Given the description of an element on the screen output the (x, y) to click on. 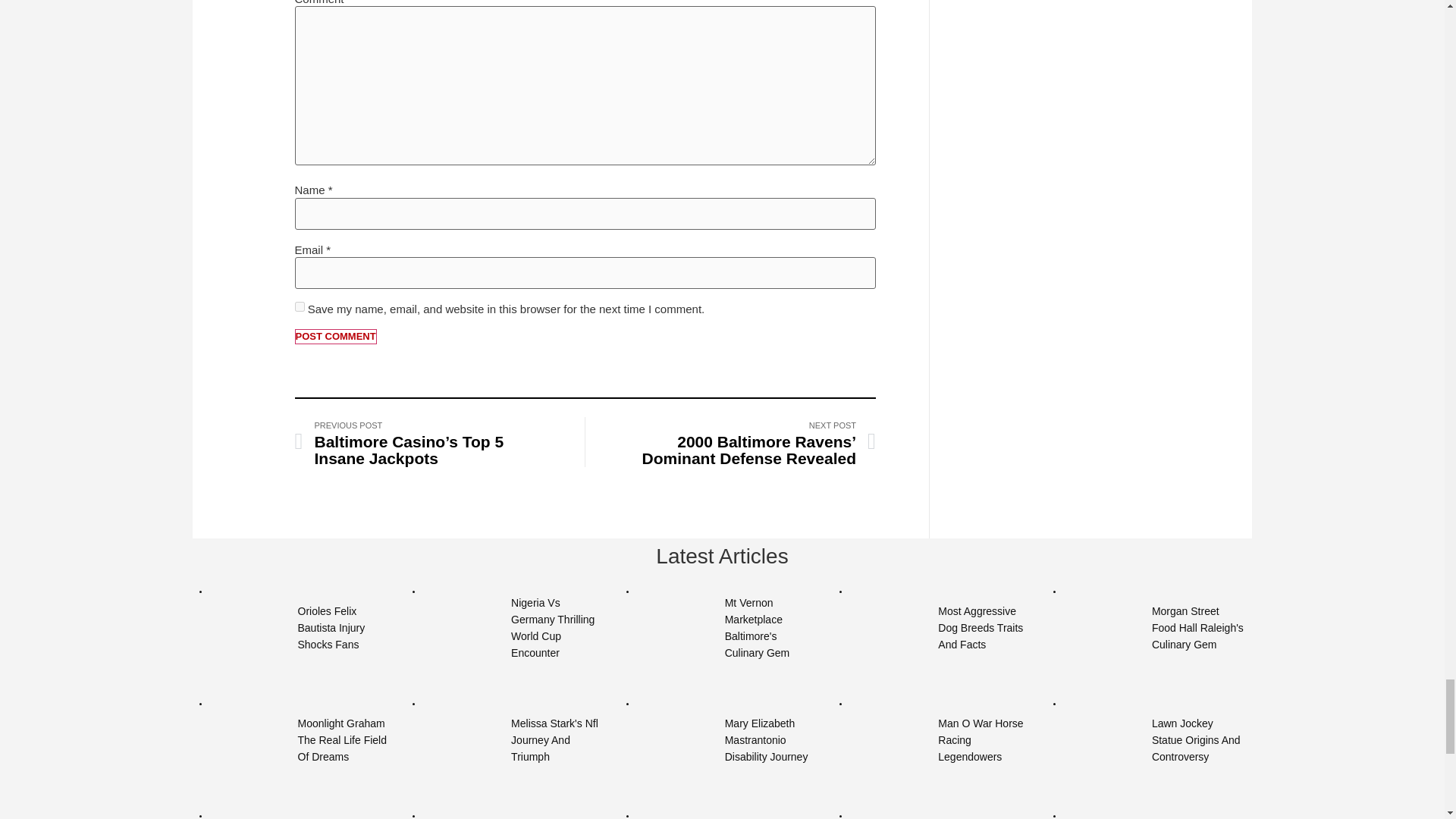
Post Comment (334, 336)
yes (299, 307)
